Given the description of an element on the screen output the (x, y) to click on. 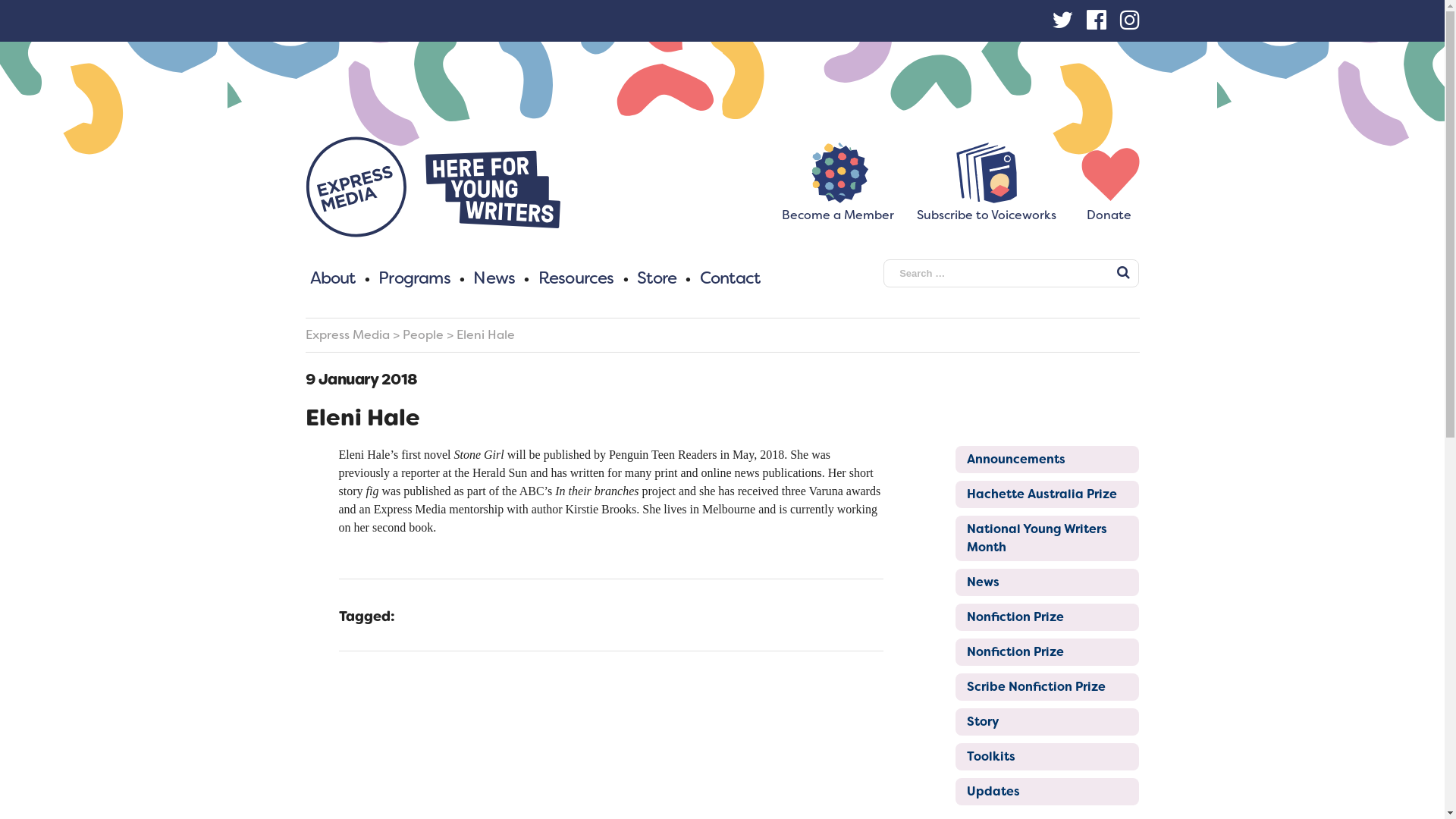
Express Media Element type: text (346, 334)
Toolkits Element type: text (1047, 756)
Story Element type: text (1047, 721)
Contact Element type: text (729, 277)
News Element type: text (493, 277)
Become a Member Element type: text (837, 208)
News Element type: text (1047, 582)
Announcements Element type: text (1047, 459)
Subscribe to Voiceworks Element type: text (985, 208)
Hachette Australia Prize Element type: text (1047, 494)
Programs Element type: text (414, 277)
Store Element type: text (656, 277)
Nonfiction Prize Element type: text (1047, 616)
Donate Element type: text (1108, 208)
Updates Element type: text (1047, 791)
Resources Element type: text (575, 277)
About Element type: text (331, 277)
People Element type: text (421, 334)
Nonfiction Prize Element type: text (1047, 651)
Search for: Element type: hover (1011, 273)
National Young Writers Month Element type: text (1047, 538)
Scribe Nonfiction Prize Element type: text (1047, 686)
